Given the description of an element on the screen output the (x, y) to click on. 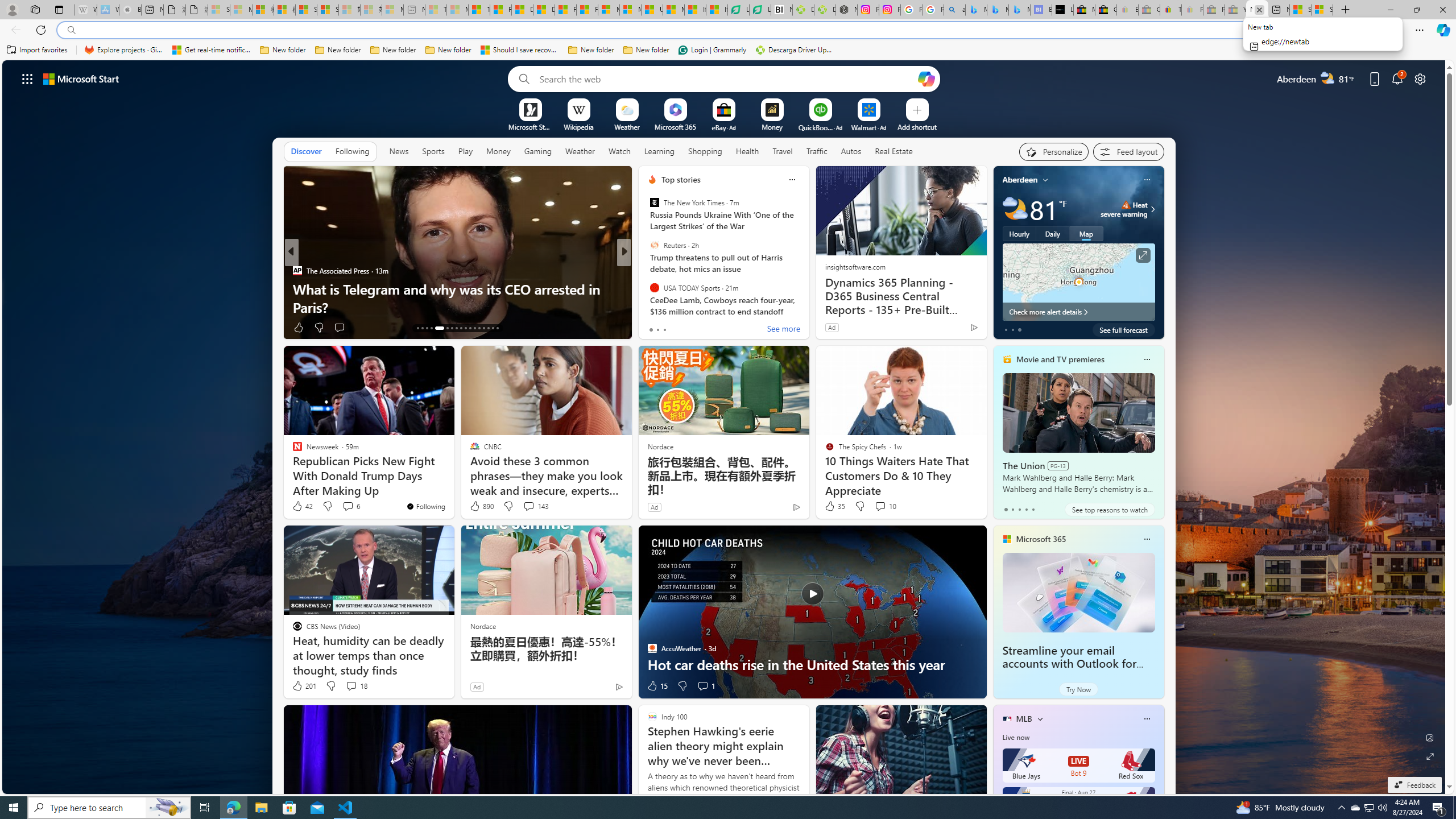
Sign in to your Microsoft account - Sleeping (218, 9)
AutomationID: tab-13 (417, 328)
Money (497, 151)
Gaming (537, 151)
Lifestyle Trends (647, 288)
18 Low-Class Behaviors To Ditch Immediately (807, 307)
Nvidia va a poner a prueba la paciencia de los inversores (781, 9)
alabama high school quarterback dies - Search (954, 9)
Aberdeen (1019, 179)
MLB (1024, 718)
Sports (432, 151)
Drinking tea every day is proven to delay biological aging (543, 9)
